Given the description of an element on the screen output the (x, y) to click on. 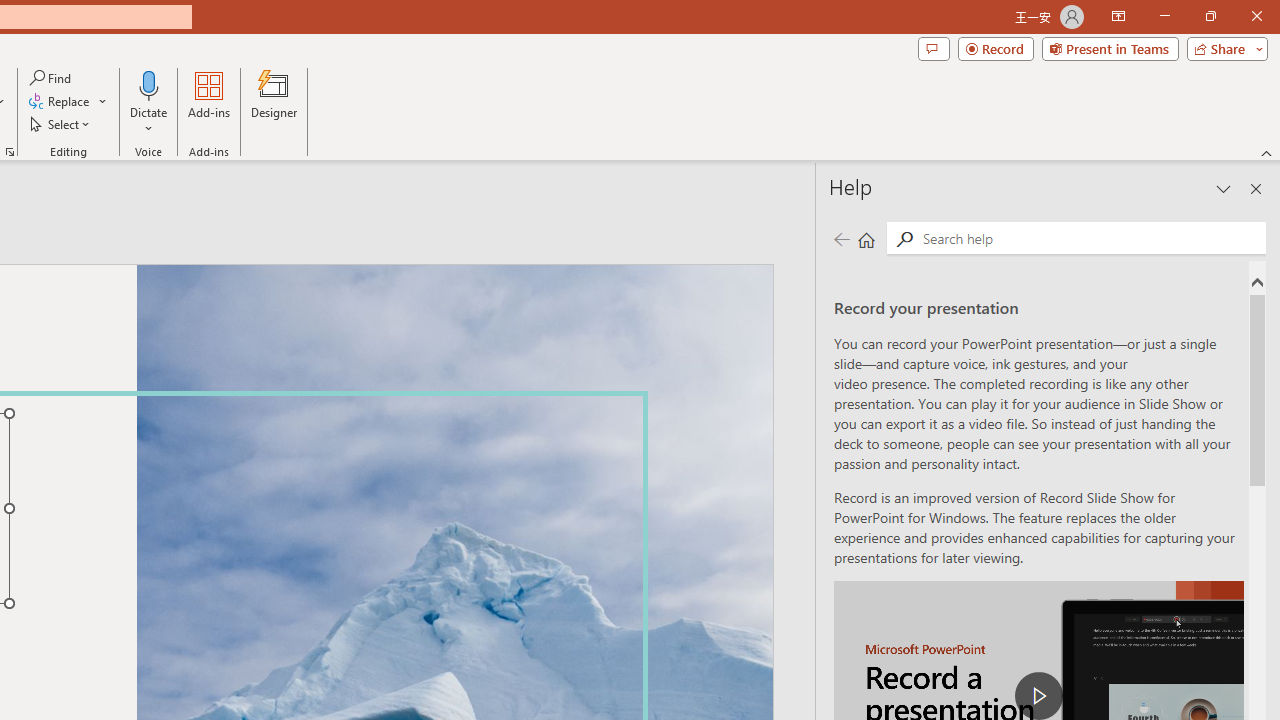
play Record a Presentation (1038, 695)
Previous page (841, 238)
